Given the description of an element on the screen output the (x, y) to click on. 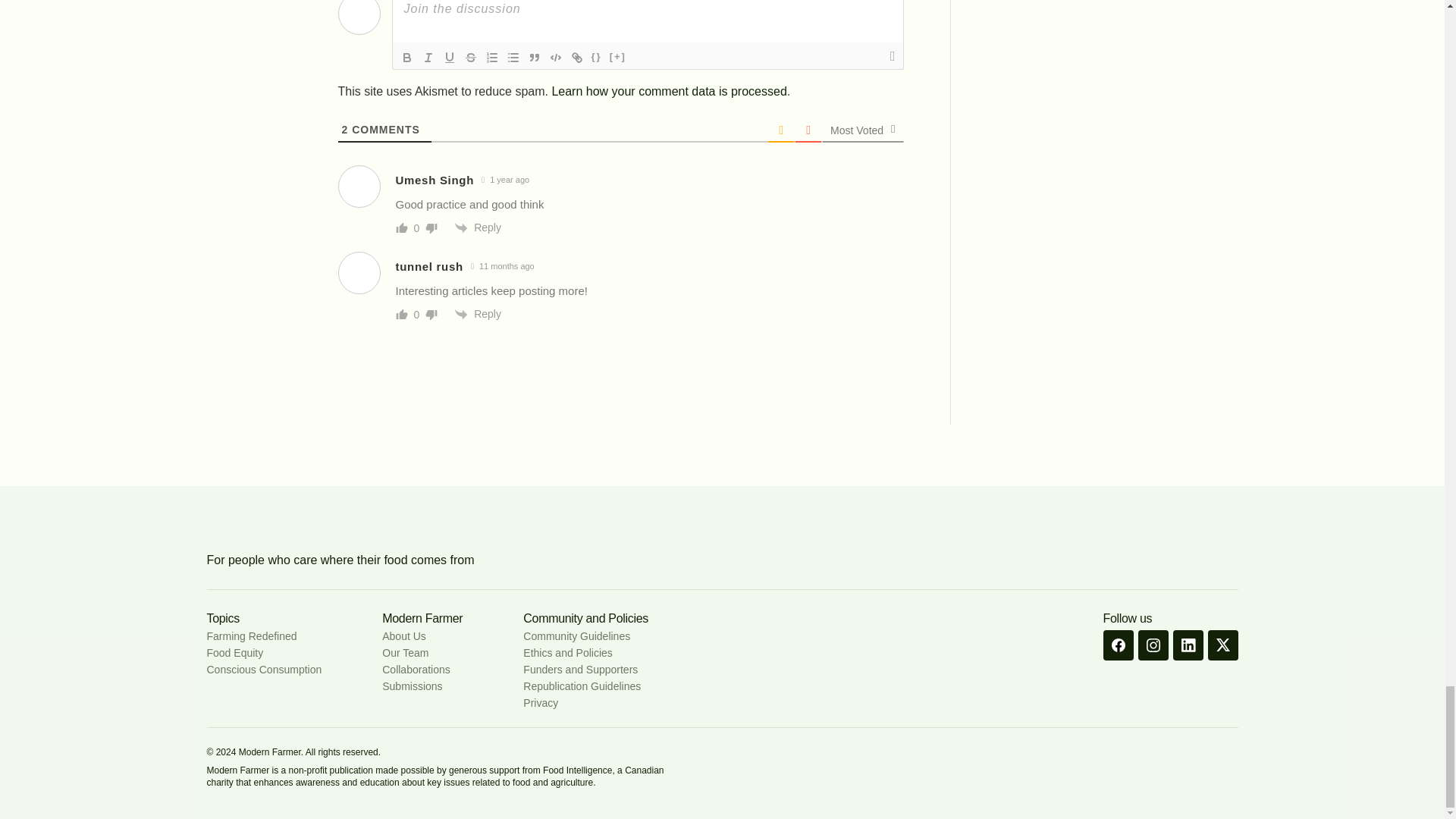
Italic (427, 57)
Underline (449, 57)
Bold (406, 57)
